Given the description of an element on the screen output the (x, y) to click on. 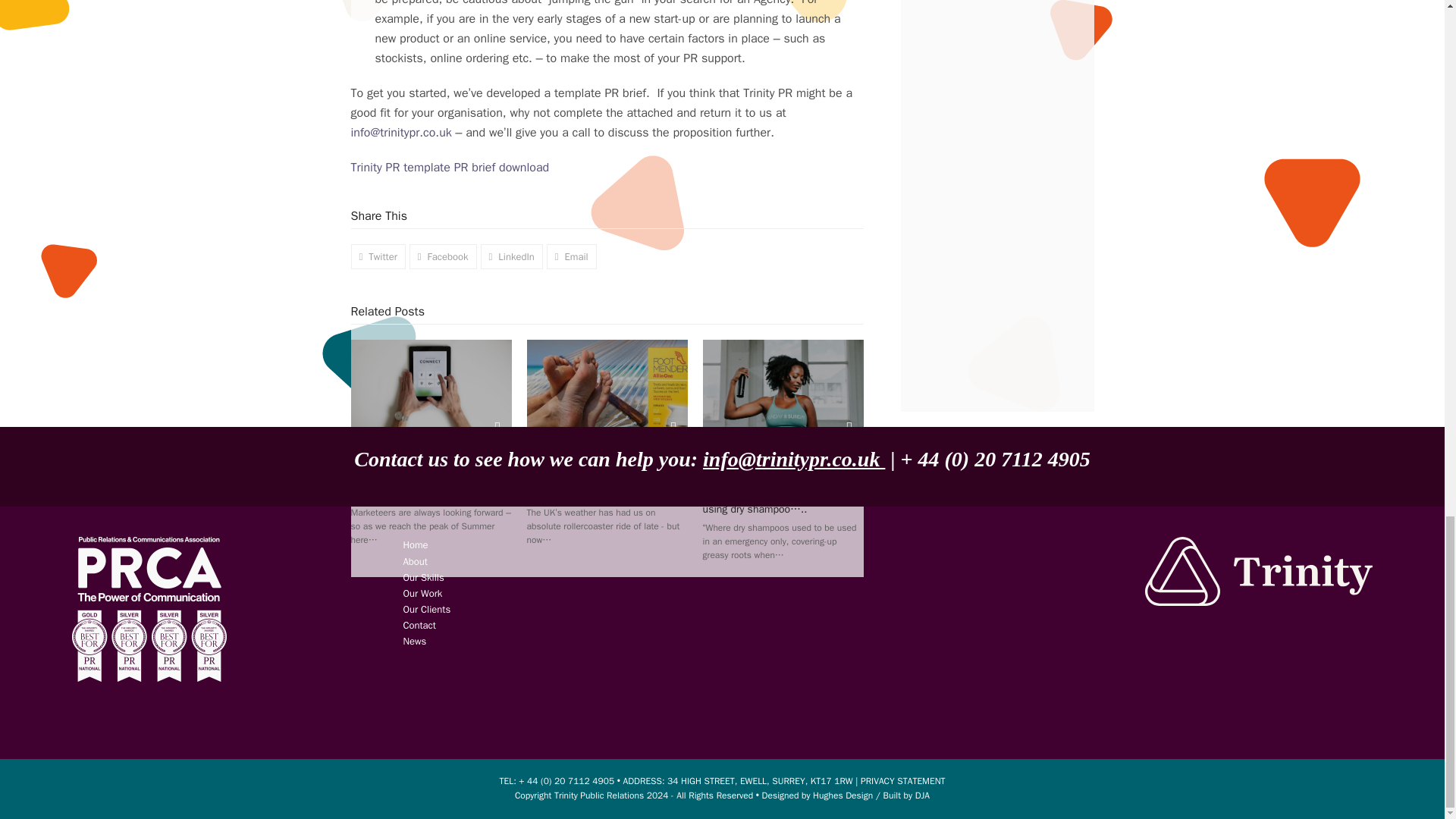
Home (415, 544)
PRIVACY STATEMENT (902, 780)
Email (571, 256)
Twitter (377, 256)
Facebook (422, 593)
About (443, 256)
News (414, 561)
Our Skills (414, 640)
